Given the description of an element on the screen output the (x, y) to click on. 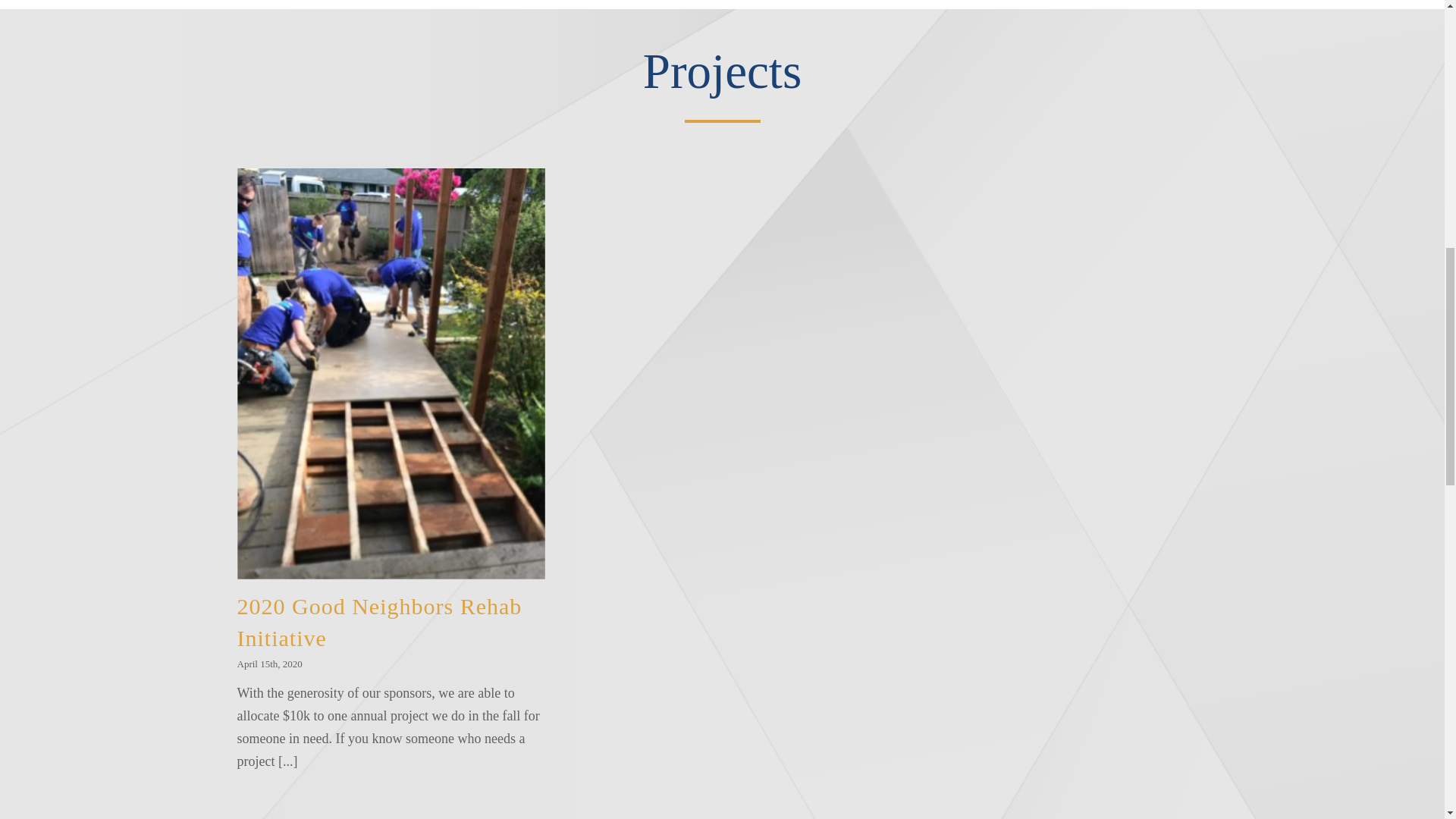
2020 Good Neighbors Rehab Initiative (378, 621)
